Given the description of an element on the screen output the (x, y) to click on. 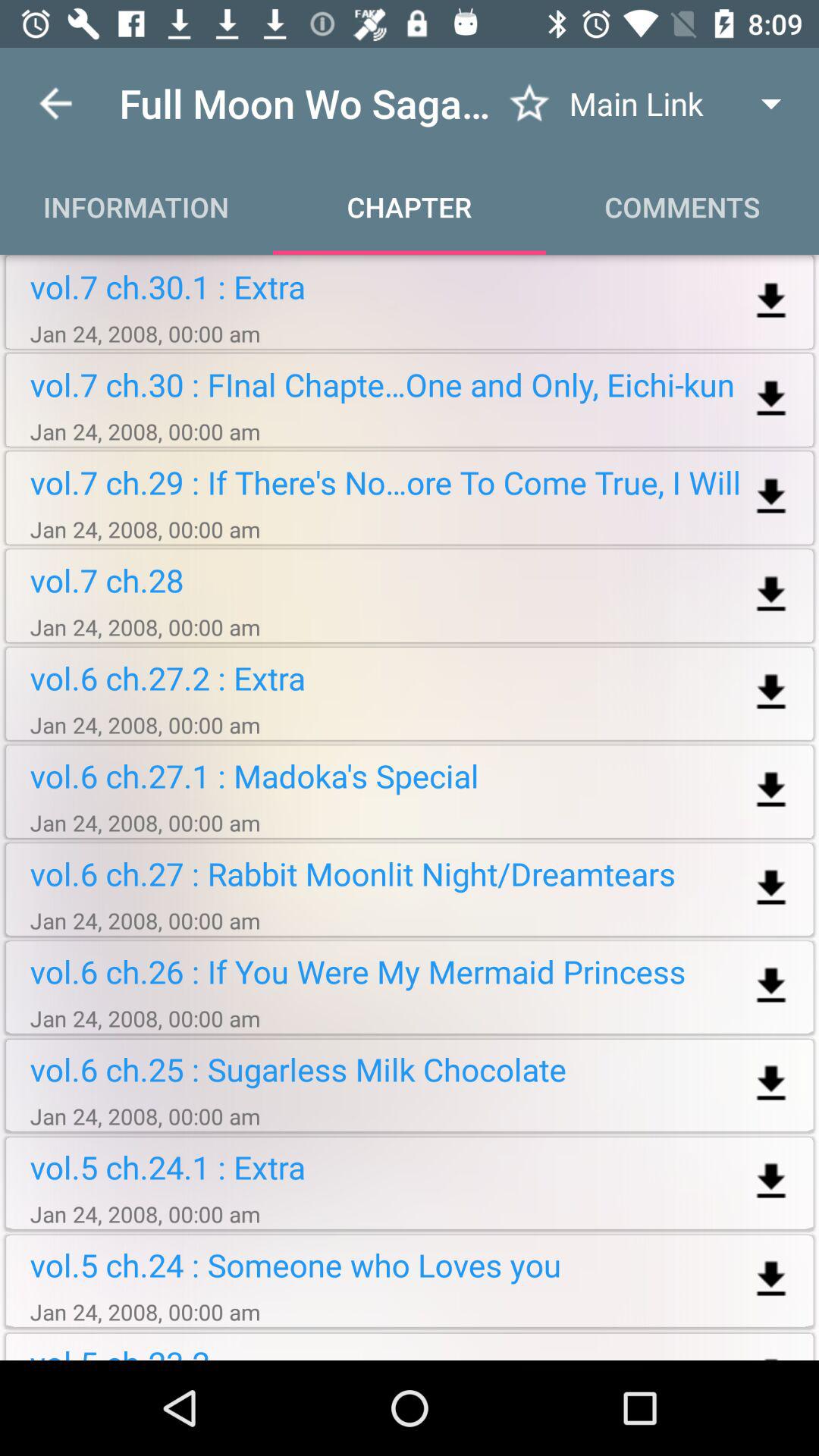
download symbol button (771, 301)
